Given the description of an element on the screen output the (x, y) to click on. 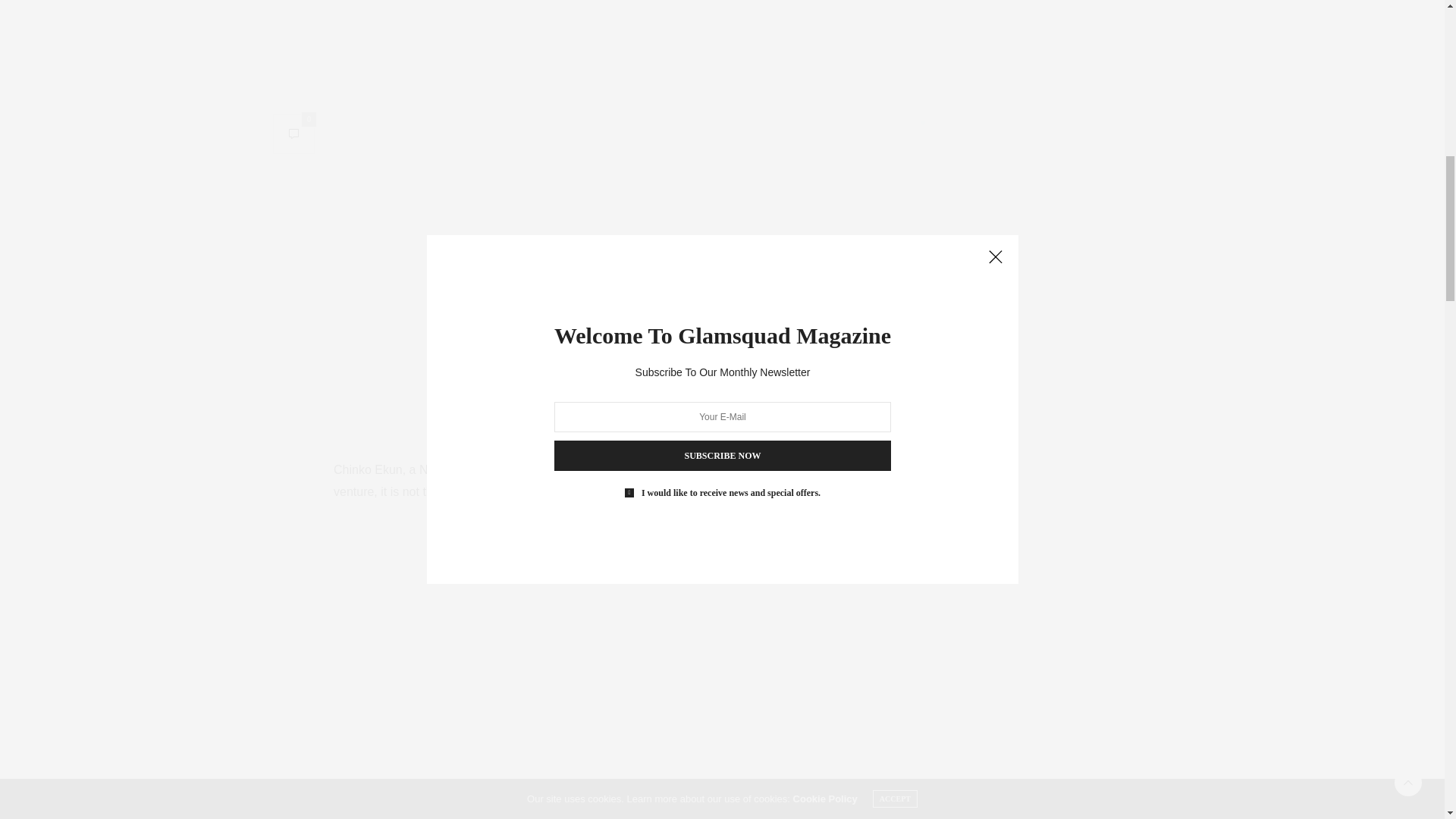
glamsquad reports. (618, 491)
